Given the description of an element on the screen output the (x, y) to click on. 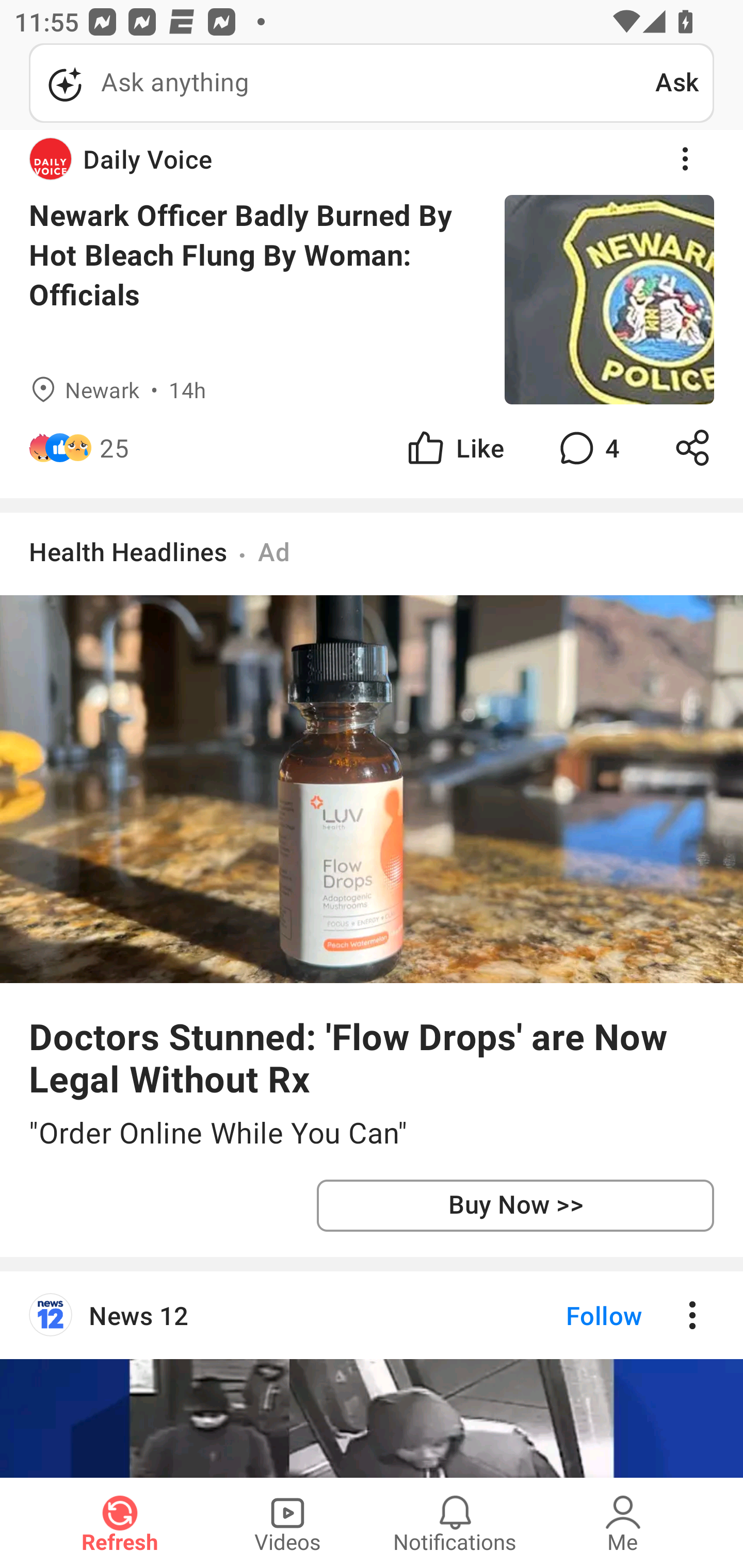
Ask anything (341, 82)
25 (114, 447)
Like (454, 447)
4 (587, 447)
Health Headlines (127, 550)
"Order Online While You Can" (371, 1133)
Buy Now >> (515, 1205)
News 12 Follow (371, 1315)
Follow (569, 1315)
Videos (287, 1522)
Notifications (455, 1522)
Me (622, 1522)
